Given the description of an element on the screen output the (x, y) to click on. 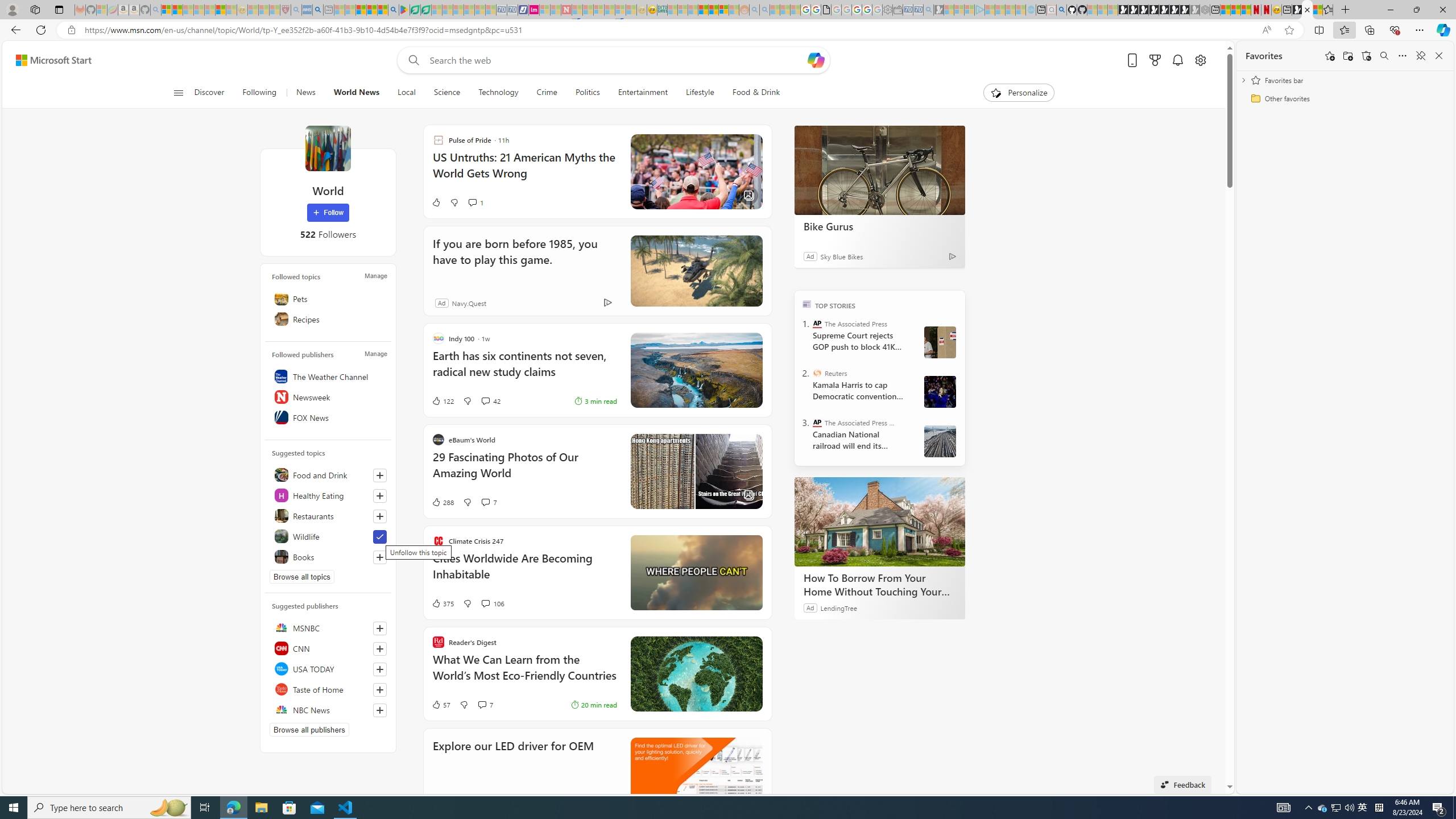
TOP (806, 302)
Pets - MSN (371, 9)
375 Like (442, 603)
